Given the description of an element on the screen output the (x, y) to click on. 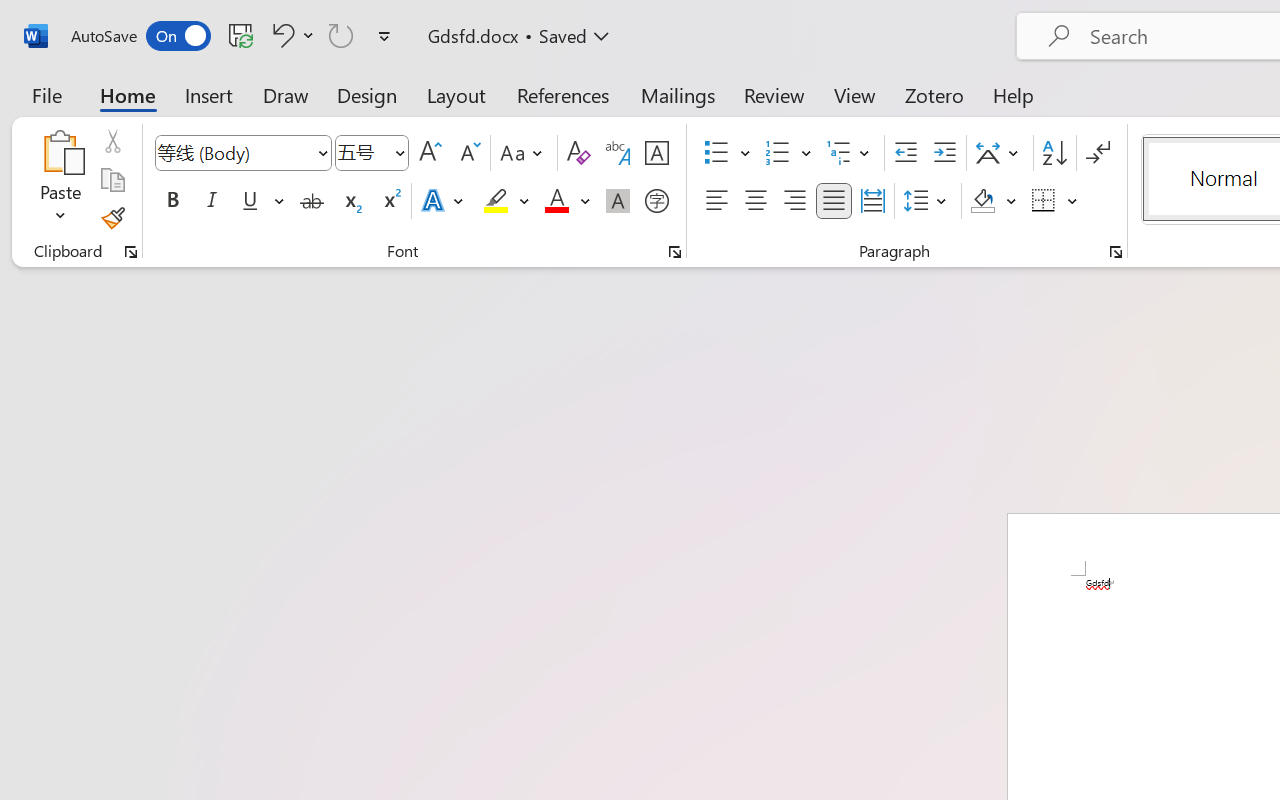
Undo Apply Quick Style (280, 35)
